Given the description of an element on the screen output the (x, y) to click on. 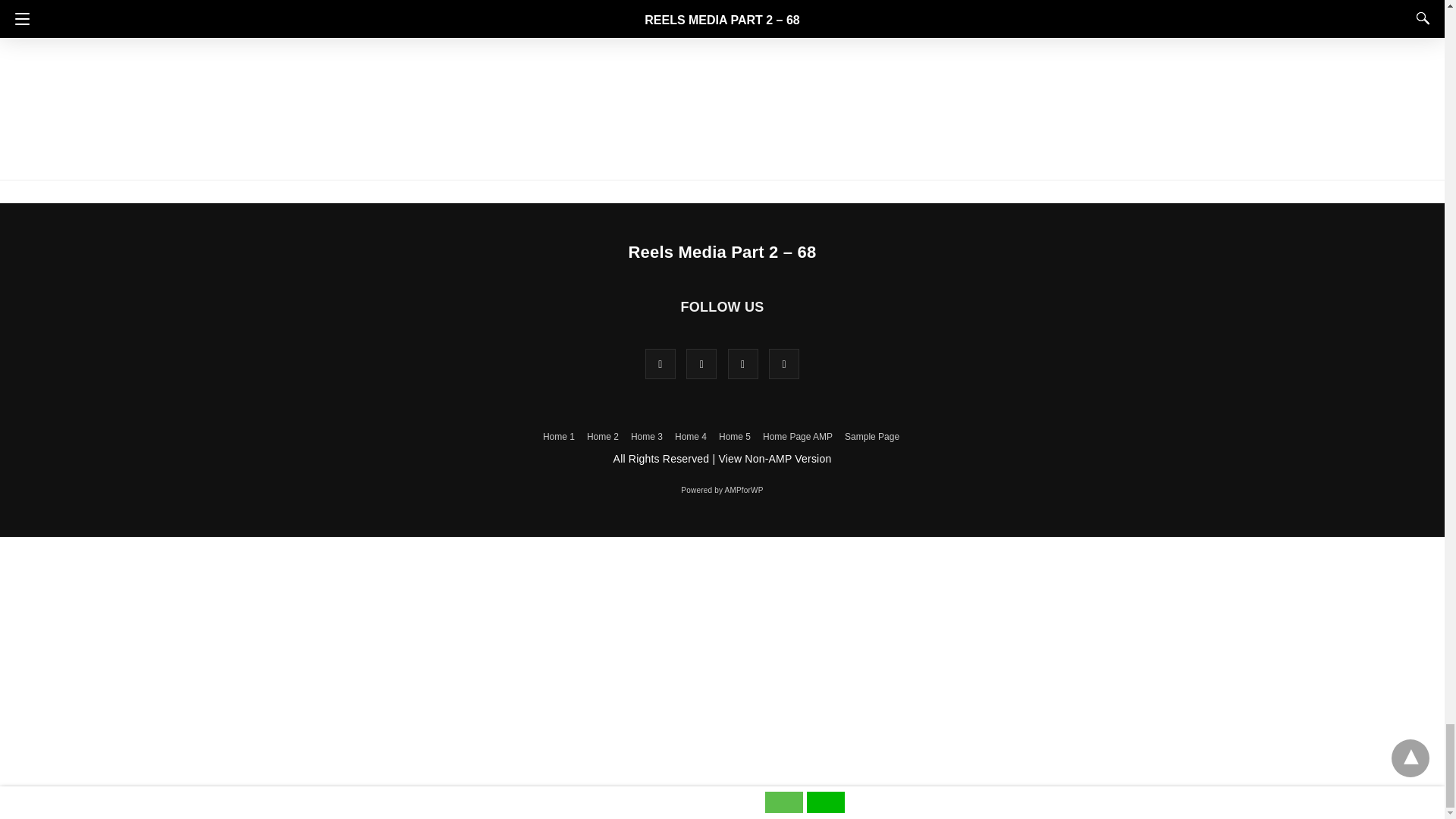
Home 1 (559, 436)
Home 5 (735, 436)
Sample Page (871, 436)
View Non-AMP Version (774, 458)
Home 2 (602, 436)
Powered by AMPforWP (721, 490)
Home Page AMP (797, 436)
Home 4 (690, 436)
Home 3 (646, 436)
